Given the description of an element on the screen output the (x, y) to click on. 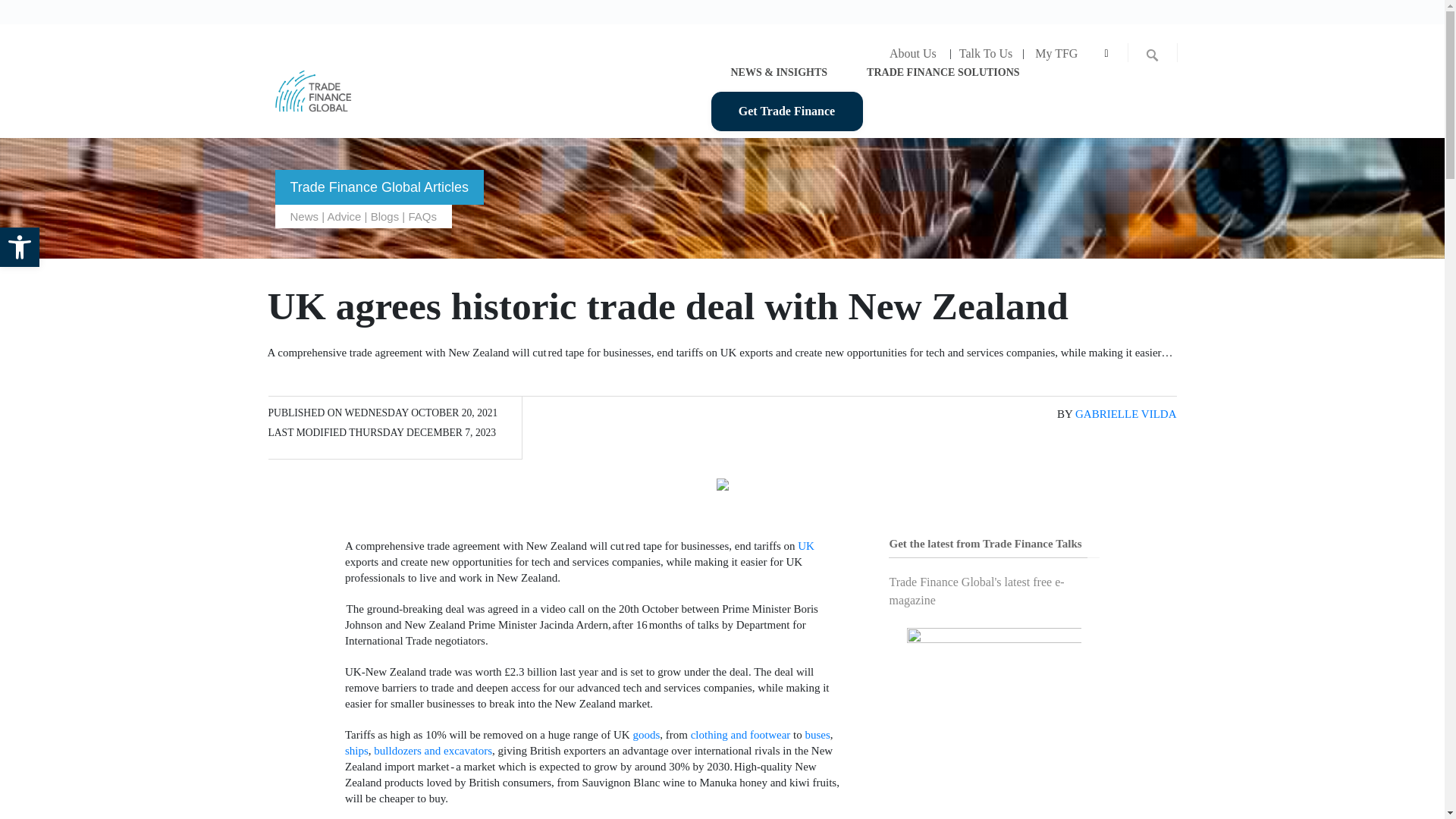
Accessibility Tools (19, 247)
Talk To Us (985, 52)
About Us (912, 52)
My TFG (1056, 52)
Search (13, 10)
Posts by Gabrielle Vilda (1125, 413)
